Given the description of an element on the screen output the (x, y) to click on. 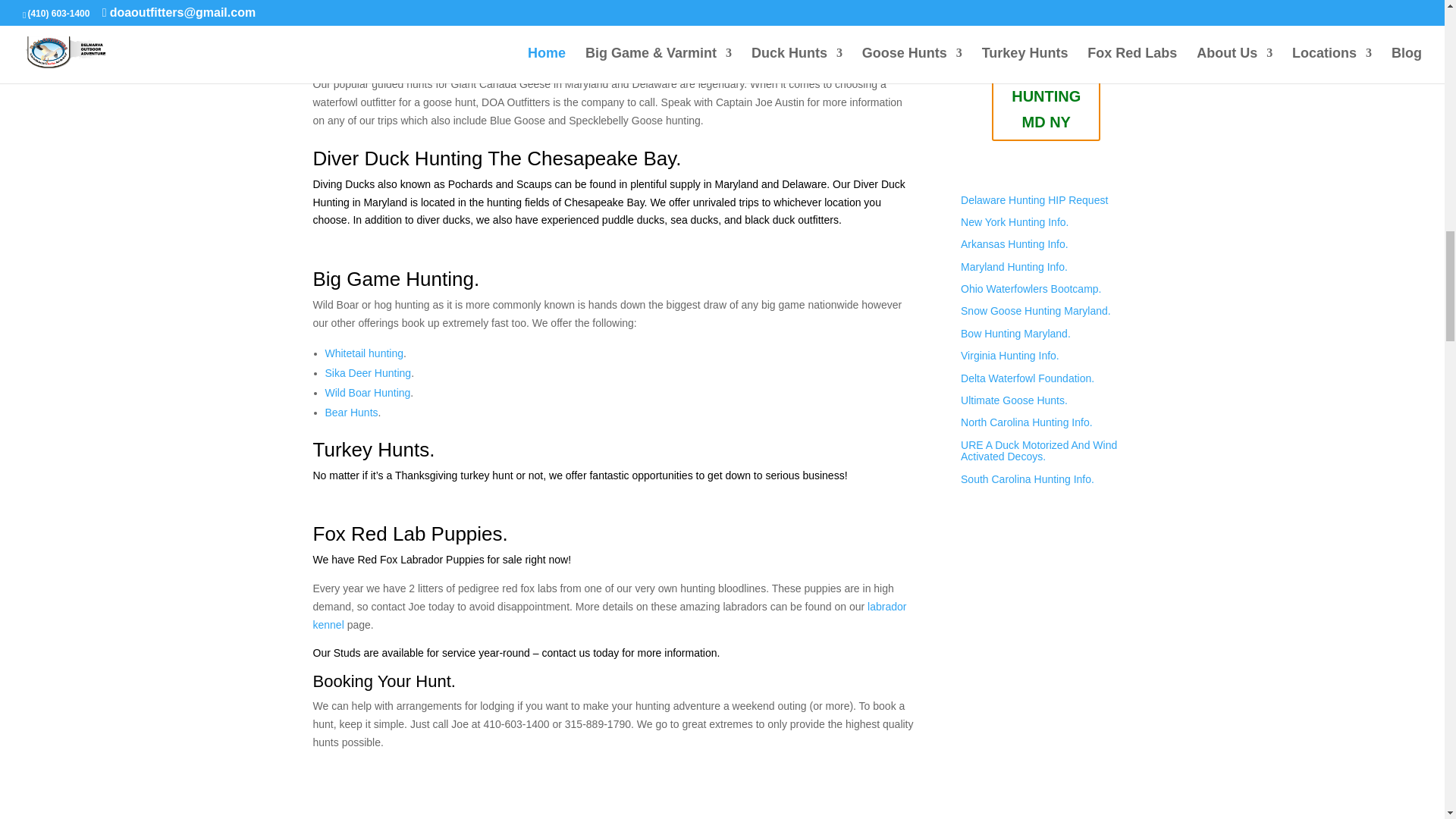
Canada Goose Hunting (415, 57)
Snow Goose Hunting (683, 28)
Diver Duck Hunting The Chesapeake Bay (494, 158)
Big Game Hunting (393, 278)
